Given the description of an element on the screen output the (x, y) to click on. 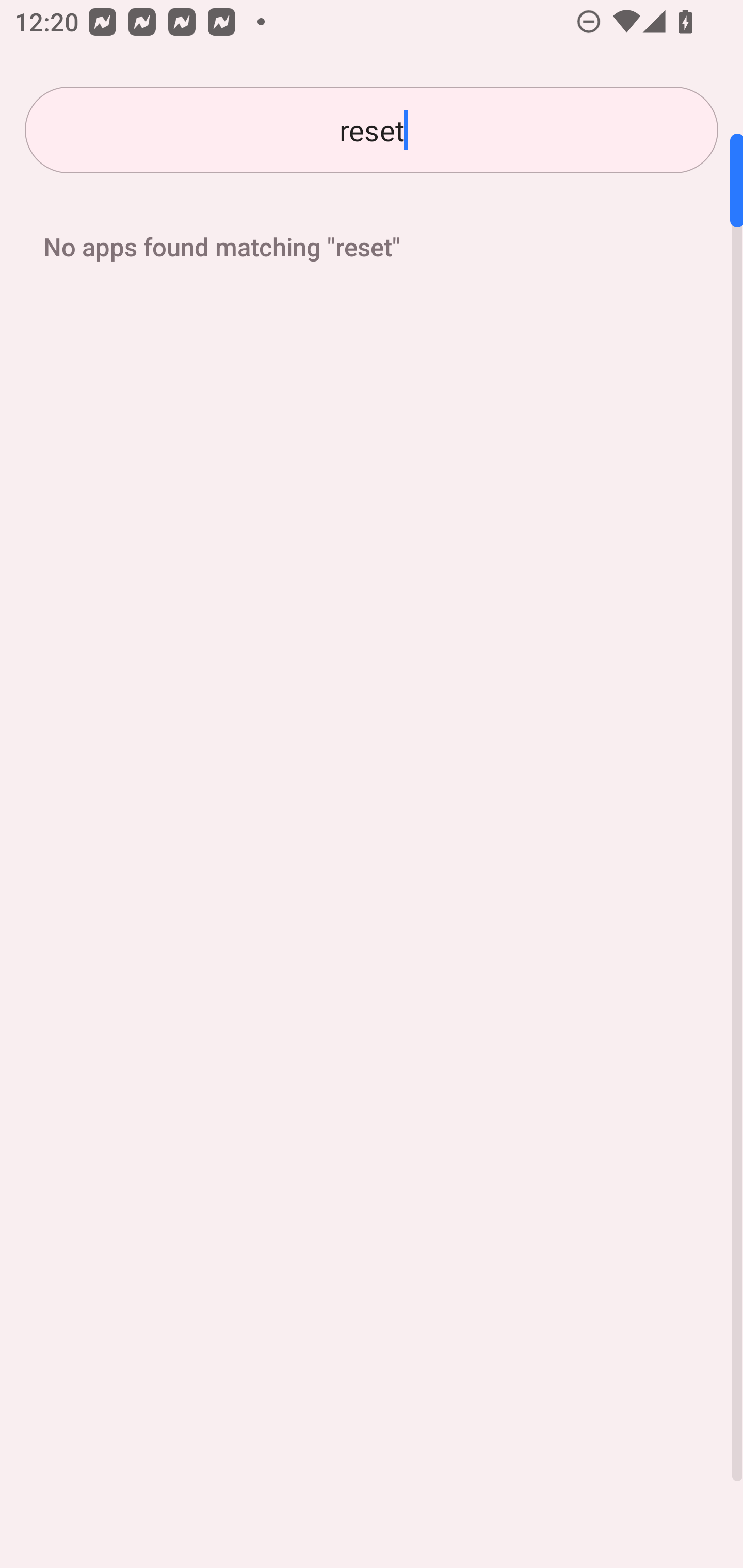
reset (371, 130)
